Given the description of an element on the screen output the (x, y) to click on. 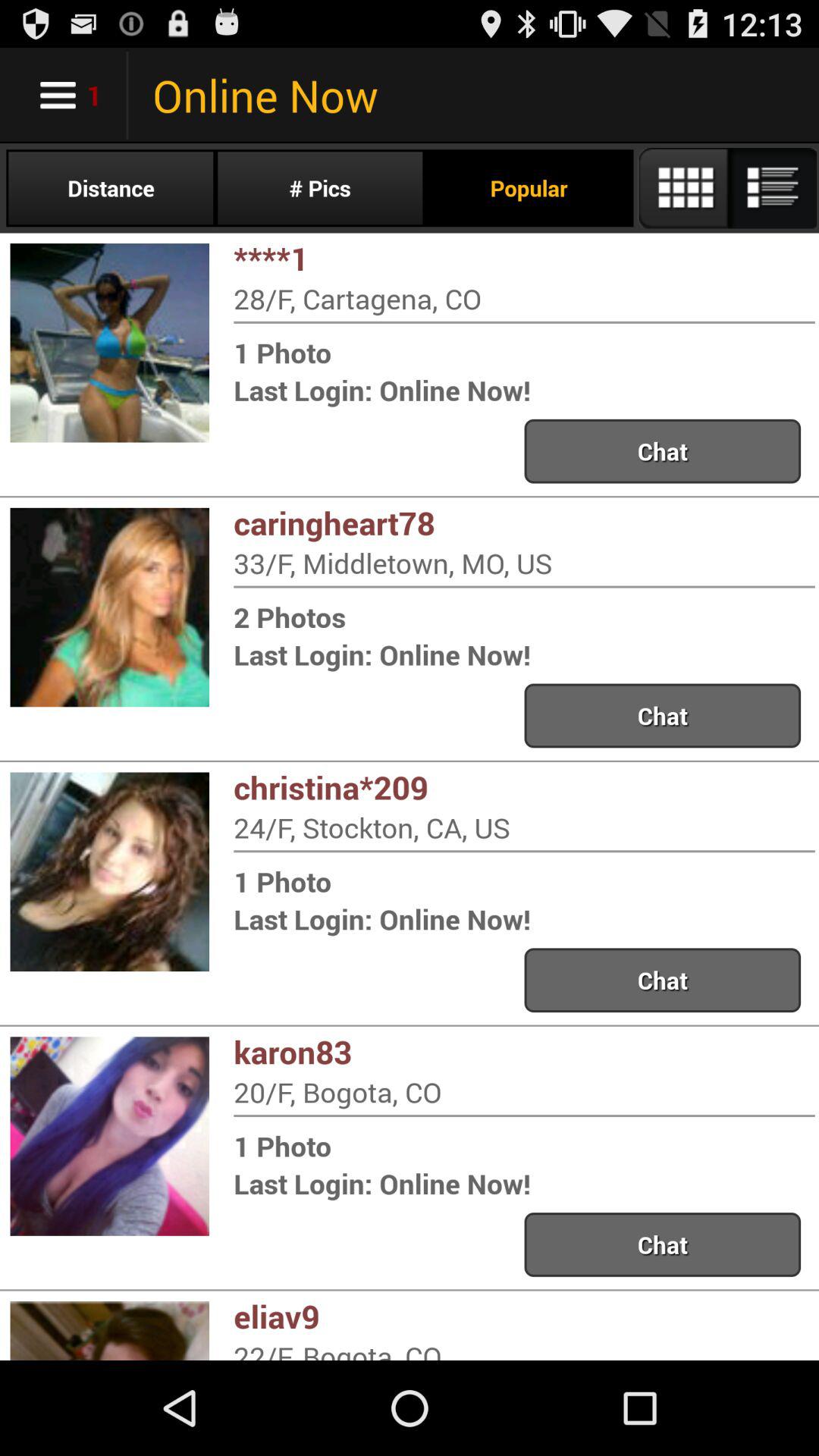
select a first image which is below distance (109, 342)
go to left of third option (109, 872)
